Given the description of an element on the screen output the (x, y) to click on. 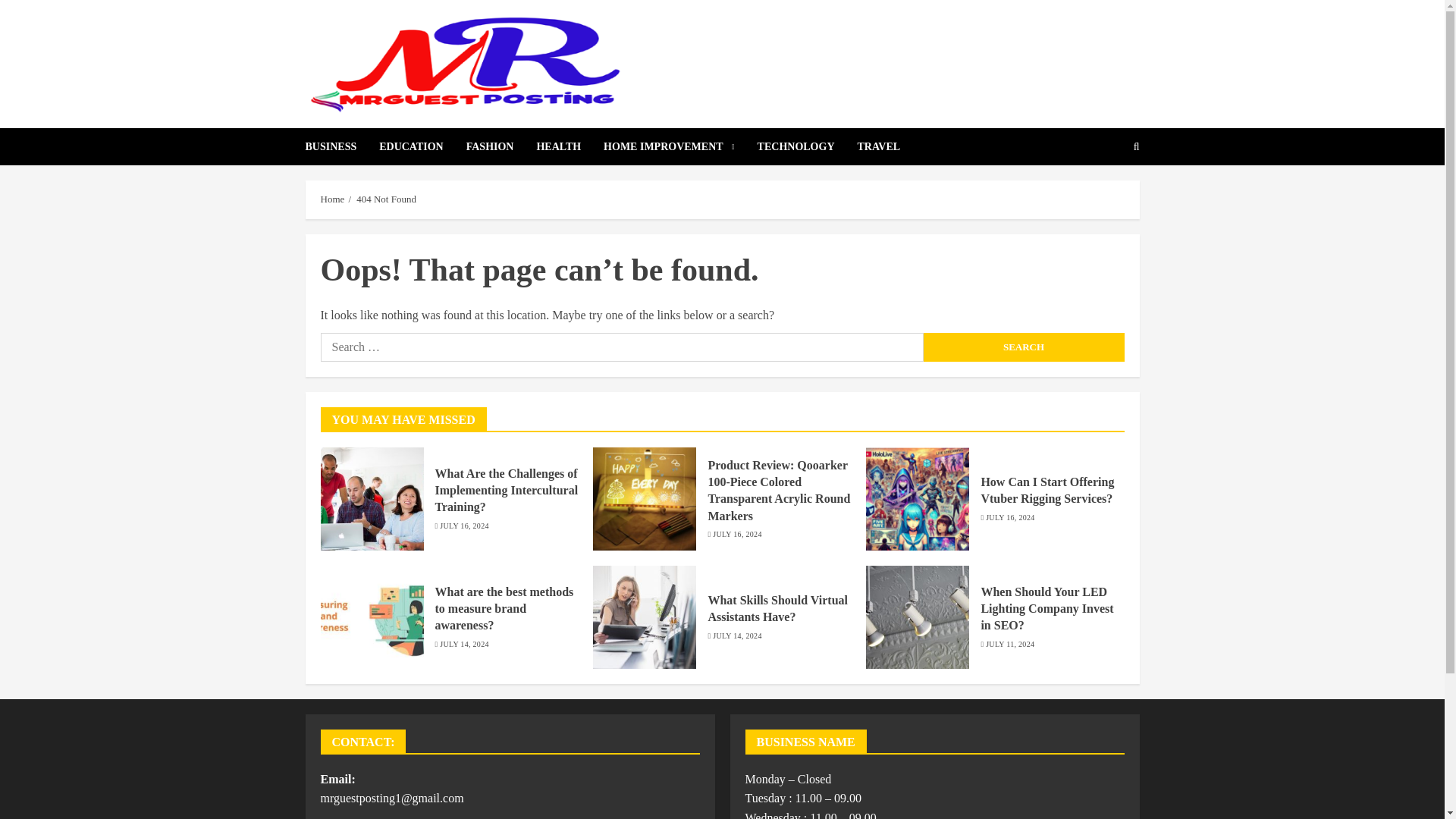
When Should Your LED Lighting Company Invest in SEO? (1046, 609)
What are the best methods to measure brand awareness? (504, 609)
How Can I Start Offering Vtuber Rigging Services? (1046, 490)
JULY 16, 2024 (737, 534)
Search (1099, 192)
JULY 16, 2024 (1009, 517)
Home (331, 199)
Search (1023, 346)
HOME IMPROVEMENT (680, 146)
What Skills Should Virtual Assistants Have? (777, 608)
BUSINESS (341, 146)
404 Not Found (386, 199)
Search (1023, 346)
EDUCATION (421, 146)
